Given the description of an element on the screen output the (x, y) to click on. 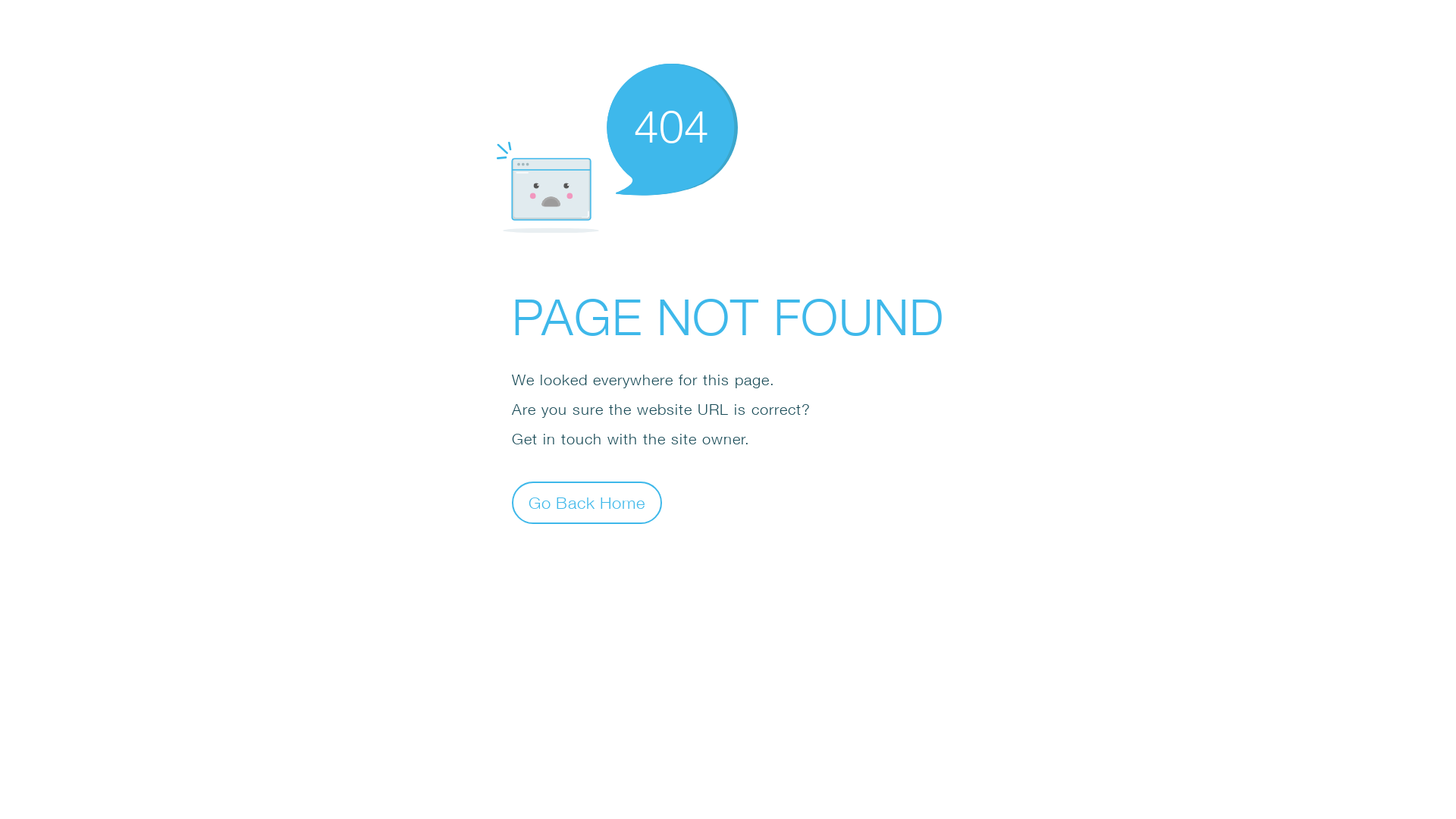
Go Back Home Element type: text (586, 502)
